Given the description of an element on the screen output the (x, y) to click on. 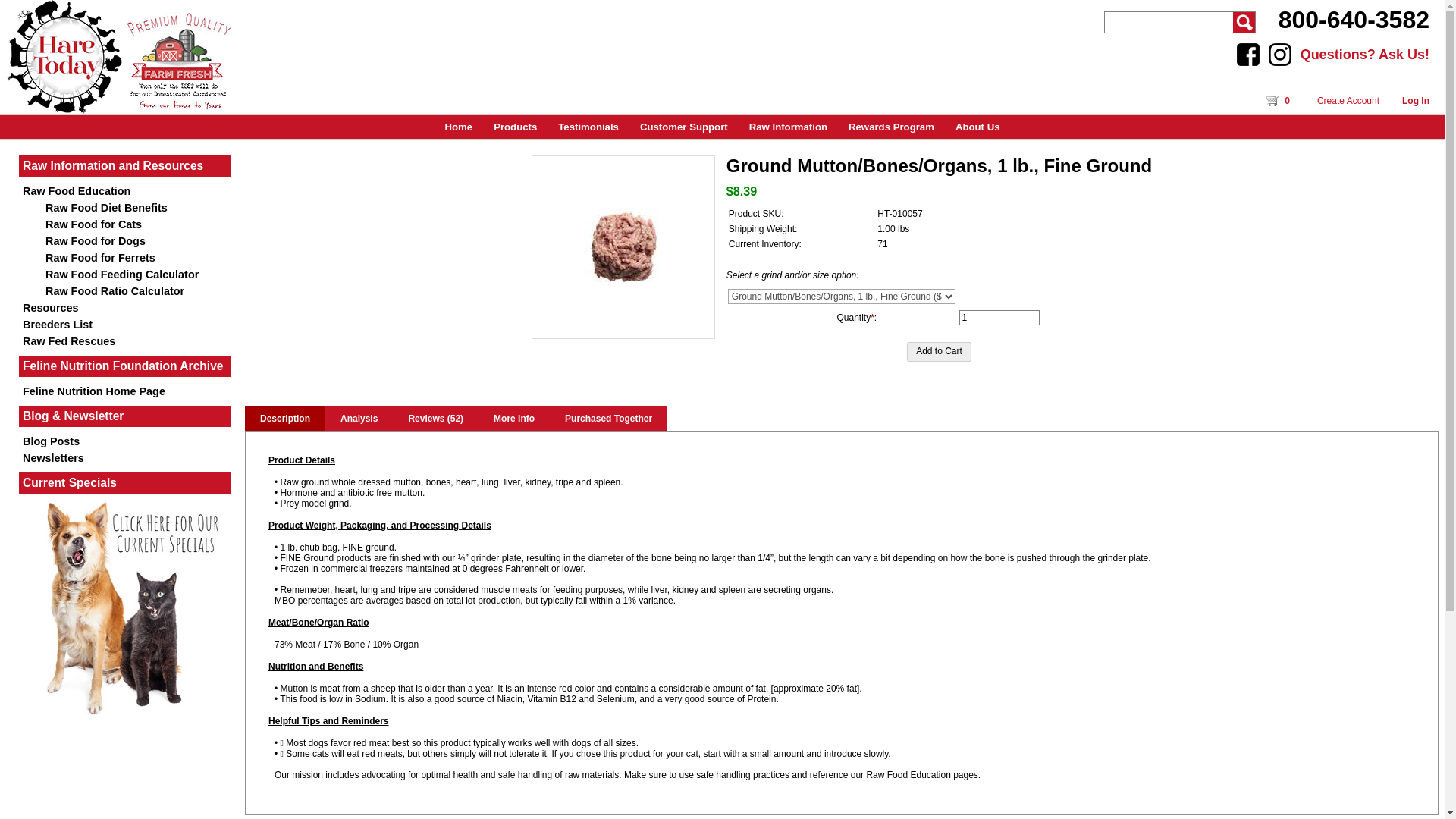
Raw Information (788, 126)
0 (1280, 101)
Log In (1415, 100)
Follow Us on Instagram (1279, 54)
Customer Support (683, 126)
Testimonials (587, 126)
Rewards Program (891, 126)
Products (515, 126)
Add to Cart (939, 351)
Follow Us on Facebook (1247, 54)
